Given the description of an element on the screen output the (x, y) to click on. 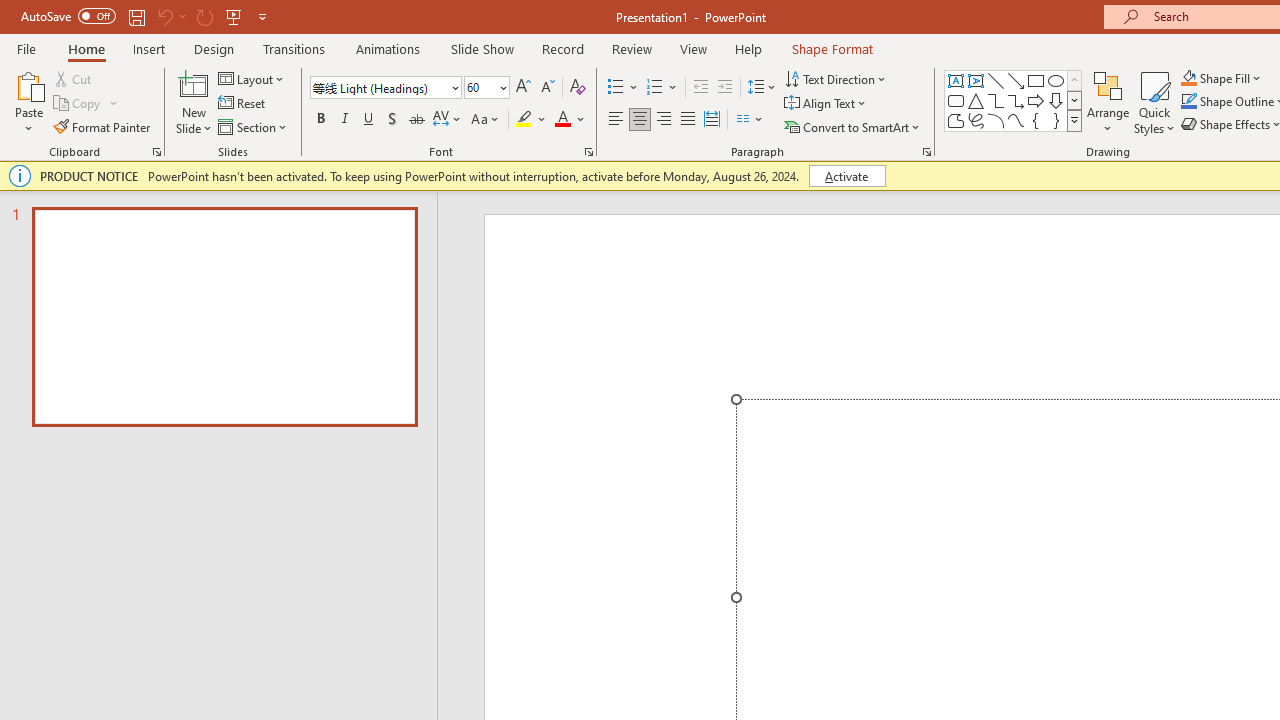
Shapes (1074, 120)
Activate (846, 175)
Font (379, 87)
Justify (687, 119)
Decrease Indent (700, 87)
Paste (28, 102)
Arrange (1108, 102)
Row up (1074, 79)
Character Spacing (447, 119)
Save (136, 15)
Paragraph... (926, 151)
Center (639, 119)
Decrease Font Size (547, 87)
